Given the description of an element on the screen output the (x, y) to click on. 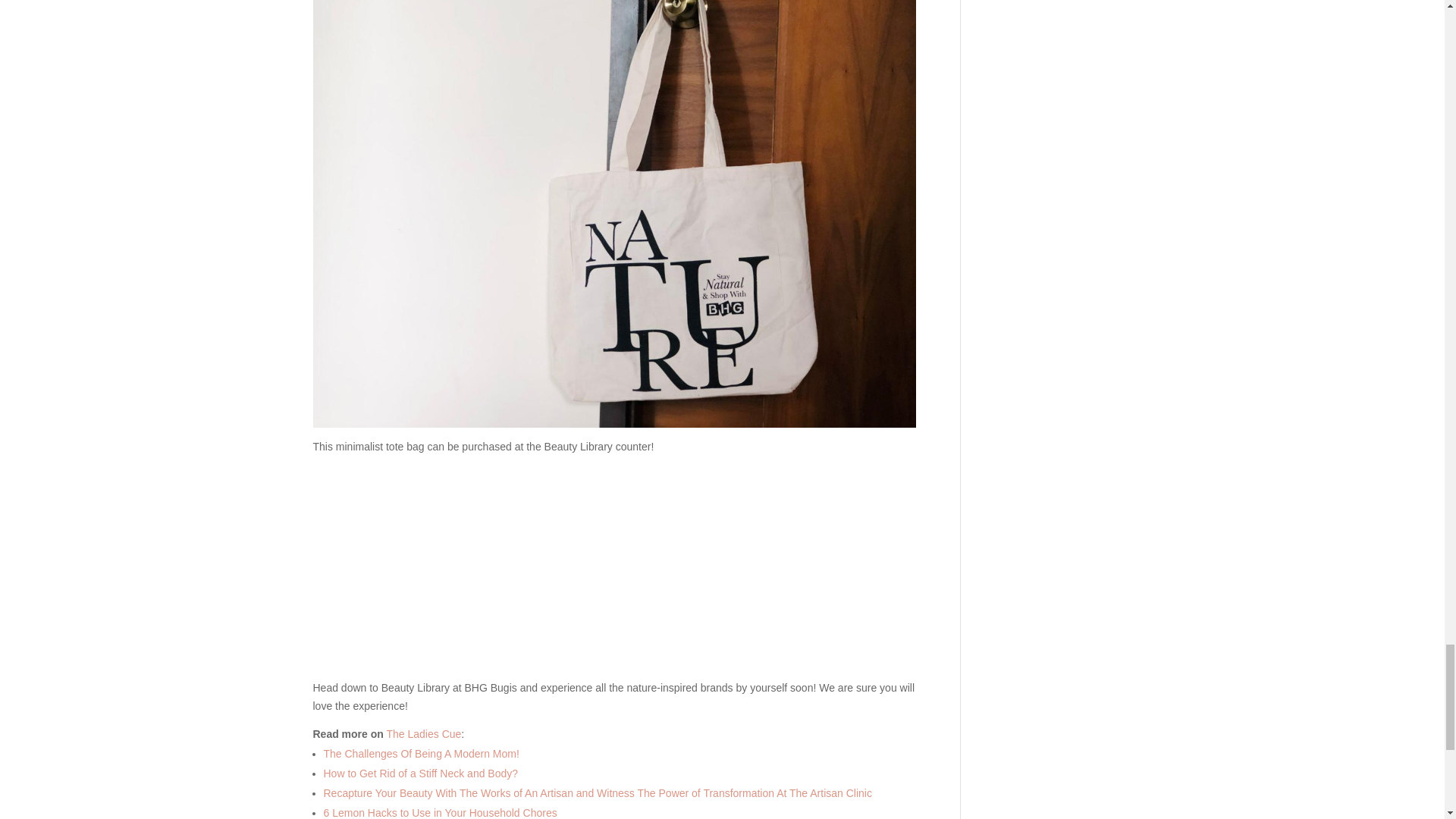
The Challenges Of Being A Modern Mom! (420, 753)
